Given the description of an element on the screen output the (x, y) to click on. 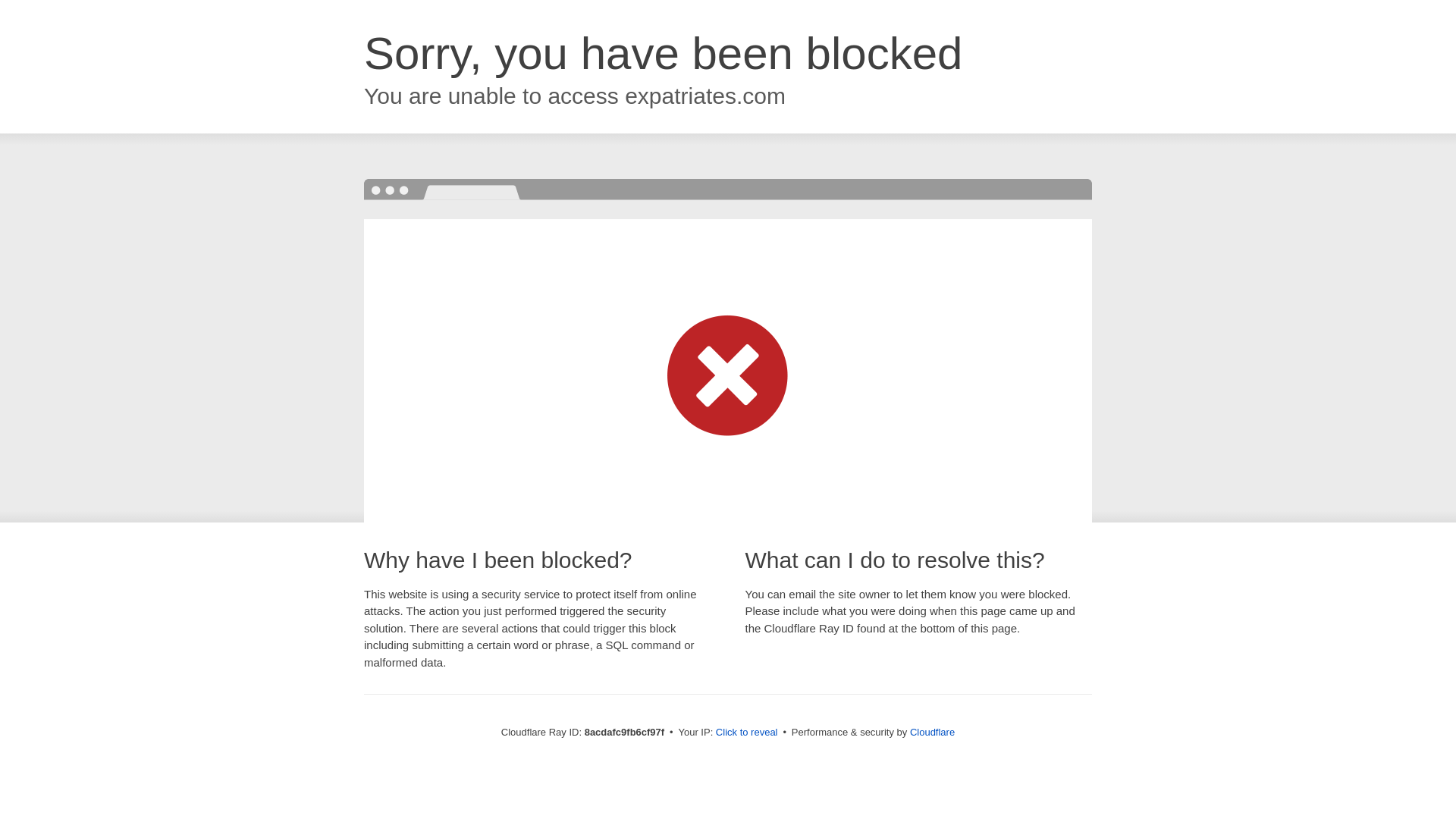
Click to reveal (746, 732)
Cloudflare (932, 731)
